Given the description of an element on the screen output the (x, y) to click on. 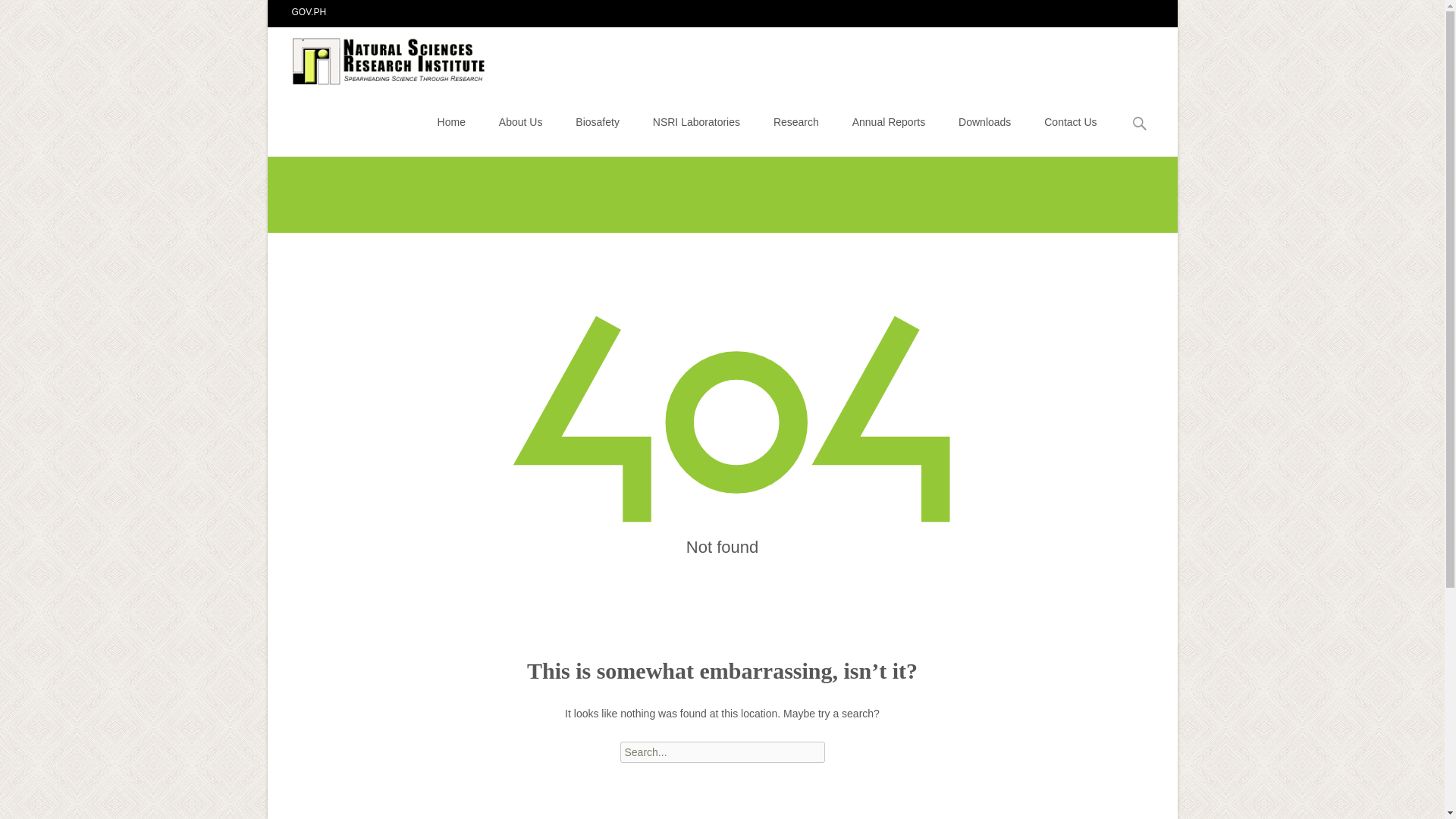
Natural Sciences Research Institute (378, 57)
Search (18, 14)
GOV.PH (308, 11)
Search for: (722, 752)
Annual Reports (888, 121)
Search for: (1139, 123)
NSRI Laboratories (695, 121)
Search (34, 14)
